Given the description of an element on the screen output the (x, y) to click on. 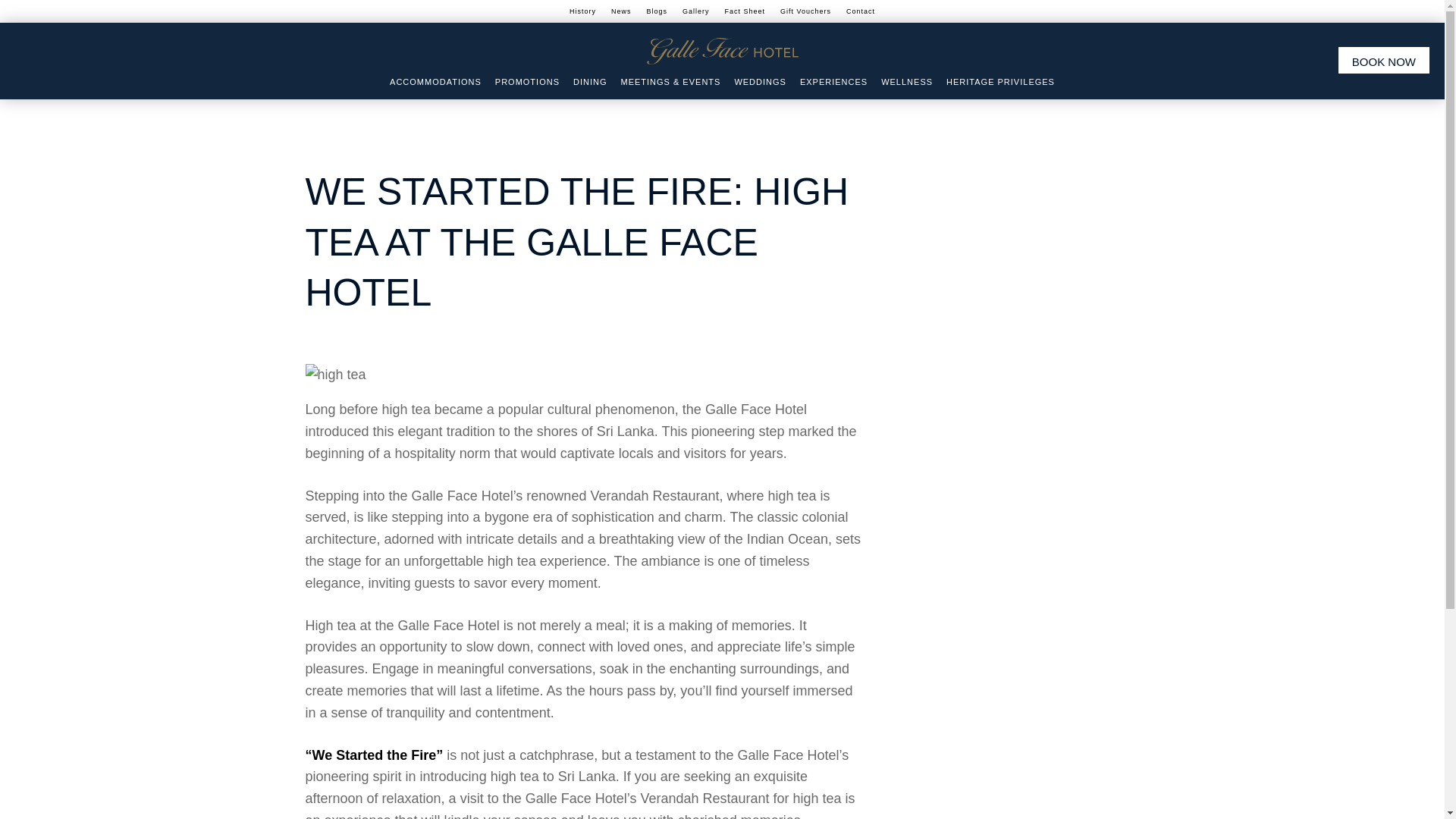
Blogs (657, 11)
PROMOTIONS (526, 81)
History (583, 11)
Fact Sheet (744, 11)
News (621, 11)
DINING (590, 81)
Gift Vouchers (805, 11)
Gallery (696, 11)
Contact (860, 11)
ACCOMMODATIONS (434, 81)
